Given the description of an element on the screen output the (x, y) to click on. 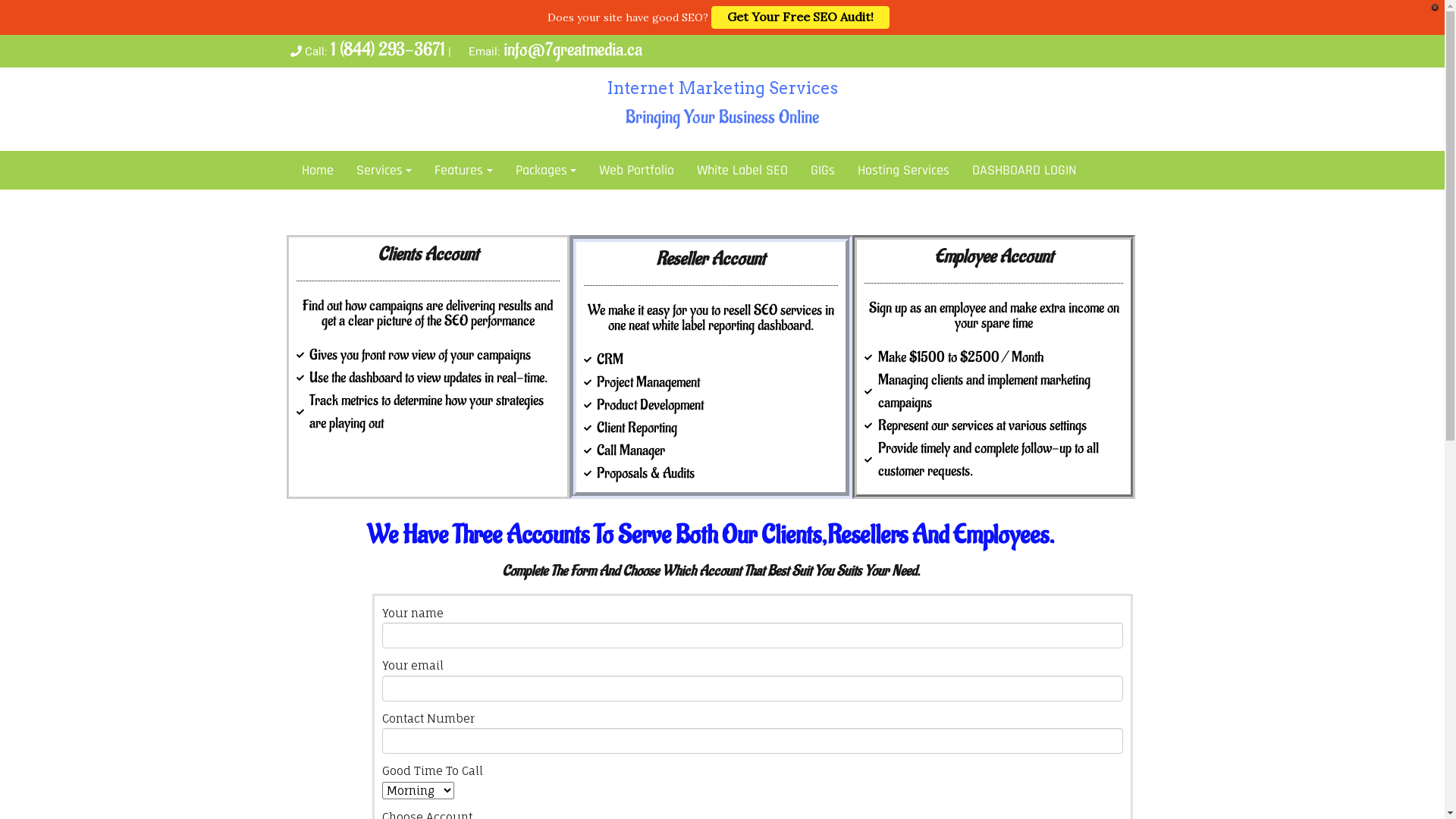
DASHBOARD LOGIN Element type: text (1023, 169)
Services Element type: text (383, 169)
Internet Marketing Services
Bringing Your Business Online Element type: text (721, 104)
info@7greatmedia.ca Element type: text (572, 49)
Web Portfolio Element type: text (636, 169)
GIGs Element type: text (822, 169)
White Label SEO Element type: text (742, 169)
Packages Element type: text (546, 169)
Features Element type: text (463, 169)
1 (844) 293-3671 Element type: text (387, 49)
Hosting Services Element type: text (903, 169)
Home Element type: text (316, 169)
